Given the description of an element on the screen output the (x, y) to click on. 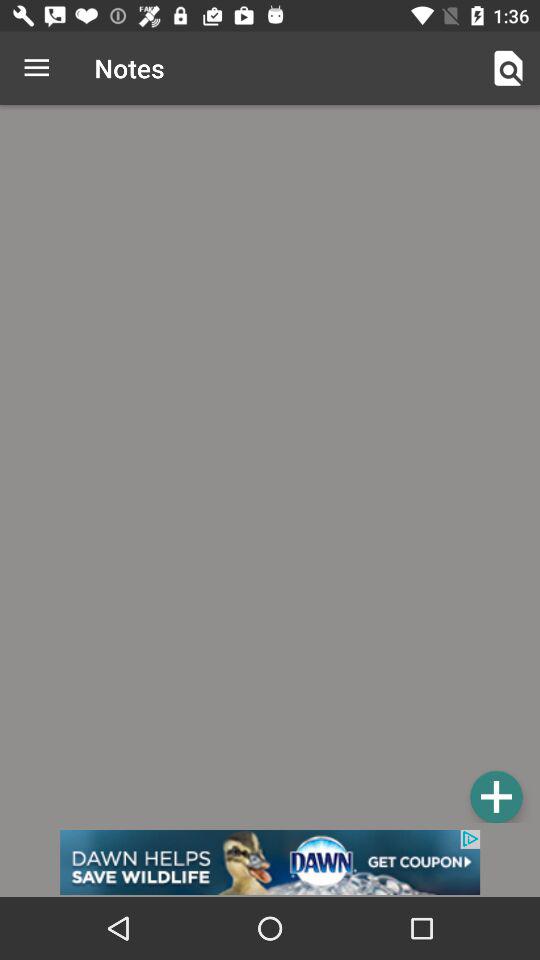
adds (496, 796)
